Given the description of an element on the screen output the (x, y) to click on. 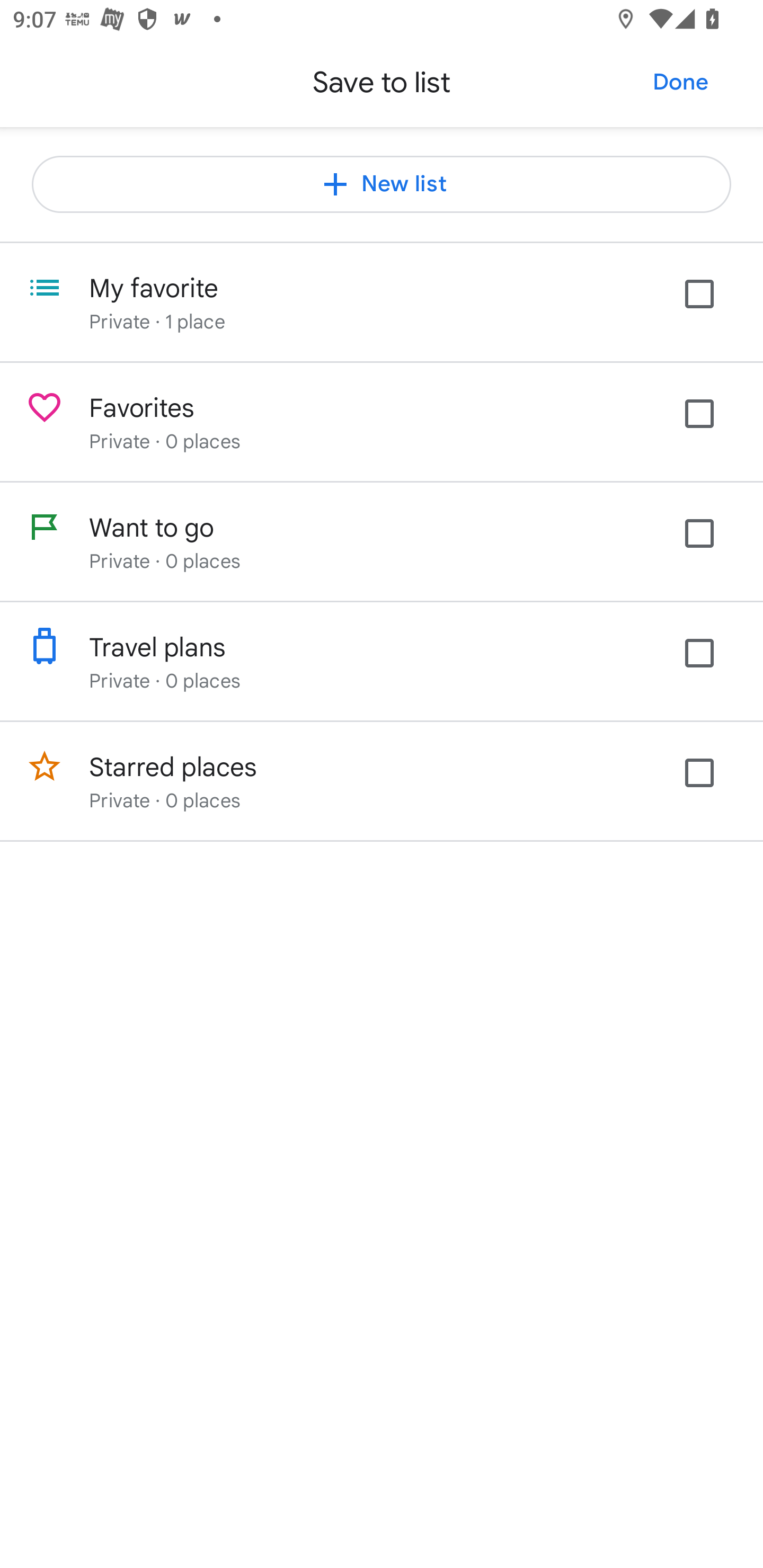
Done (680, 81)
New list (381, 183)
